Given the description of an element on the screen output the (x, y) to click on. 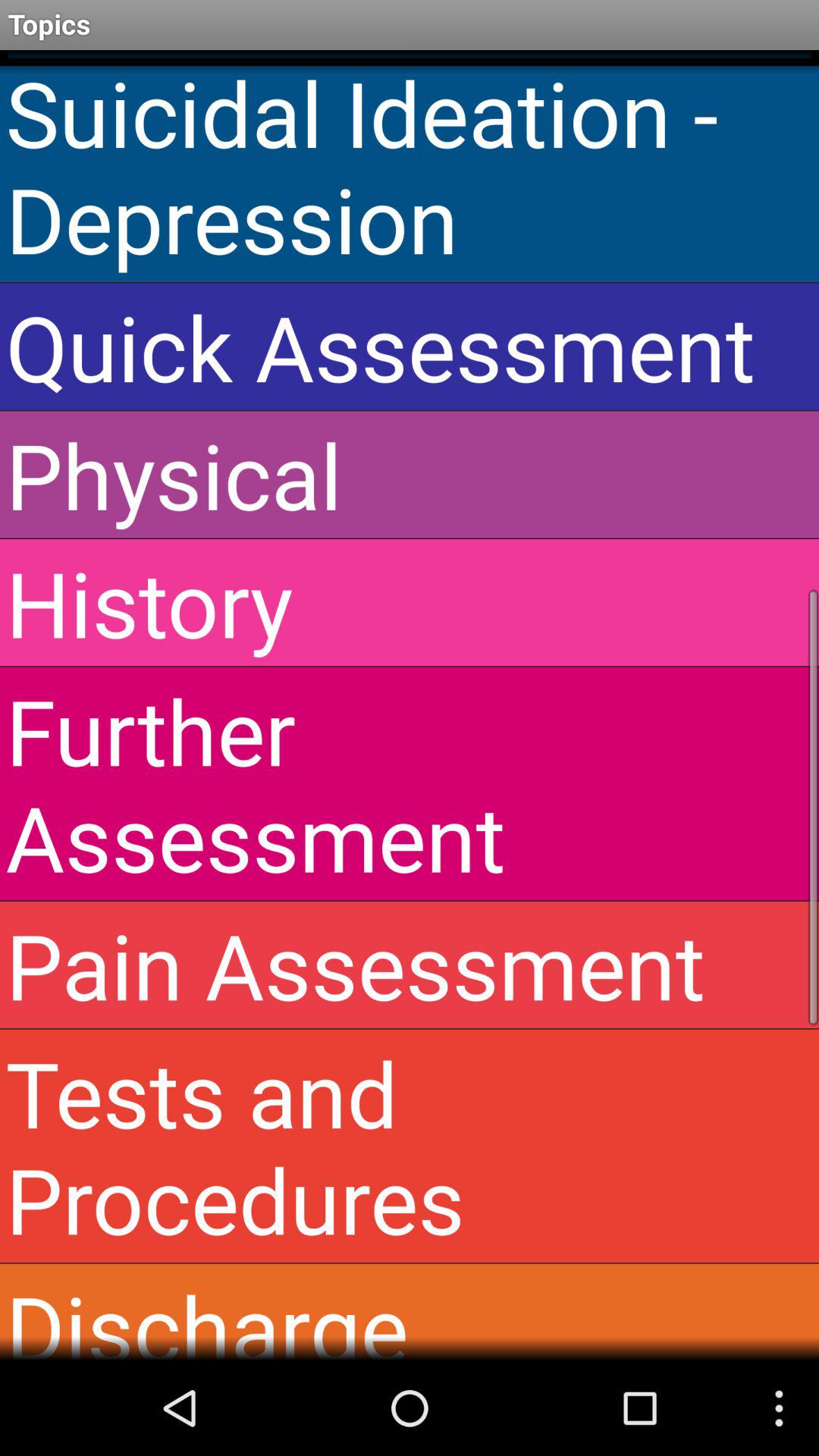
swipe until pain assessment item (409, 964)
